Given the description of an element on the screen output the (x, y) to click on. 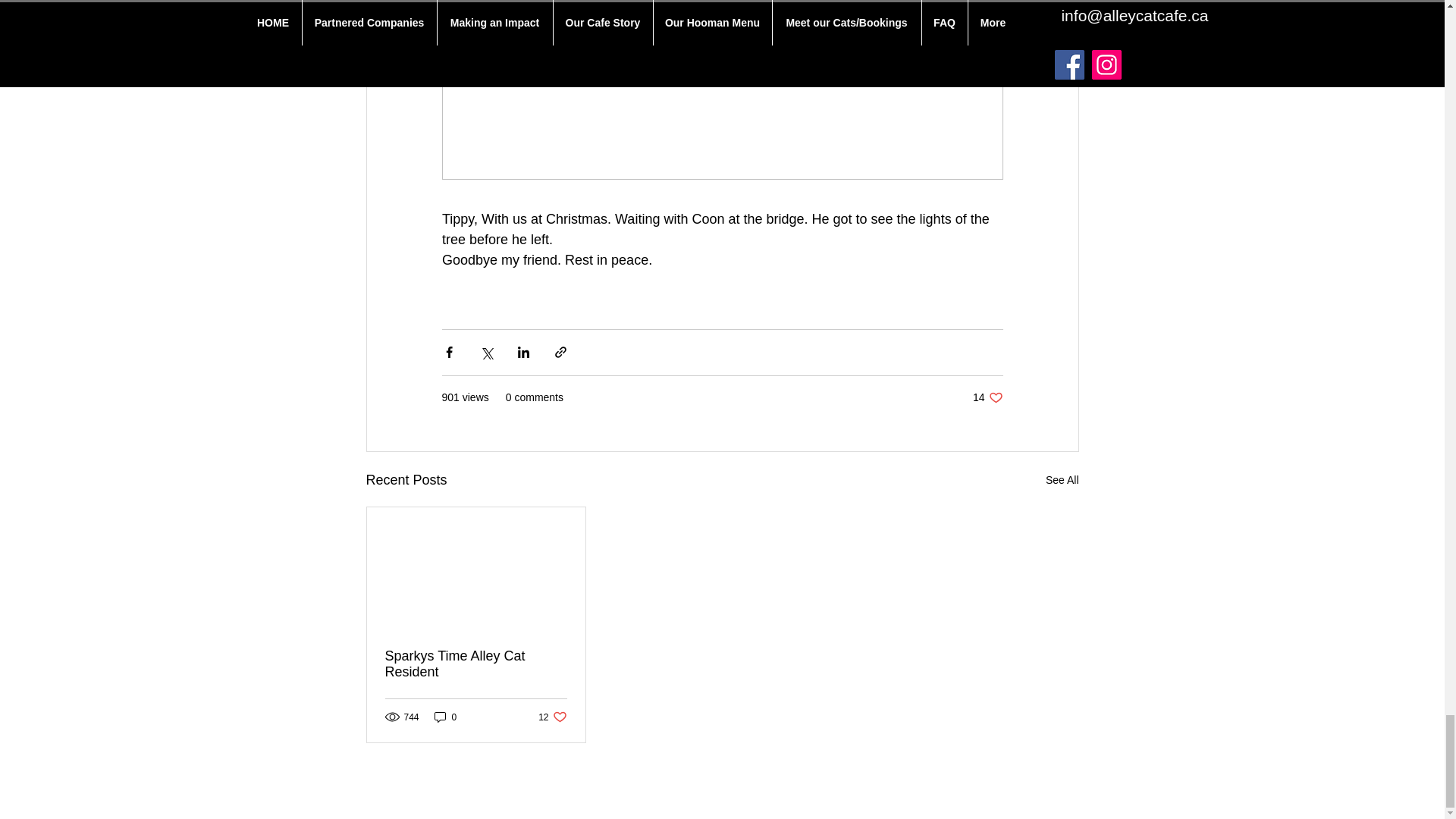
See All (552, 716)
Sparkys Time Alley Cat Resident (1061, 480)
0 (987, 397)
